Given the description of an element on the screen output the (x, y) to click on. 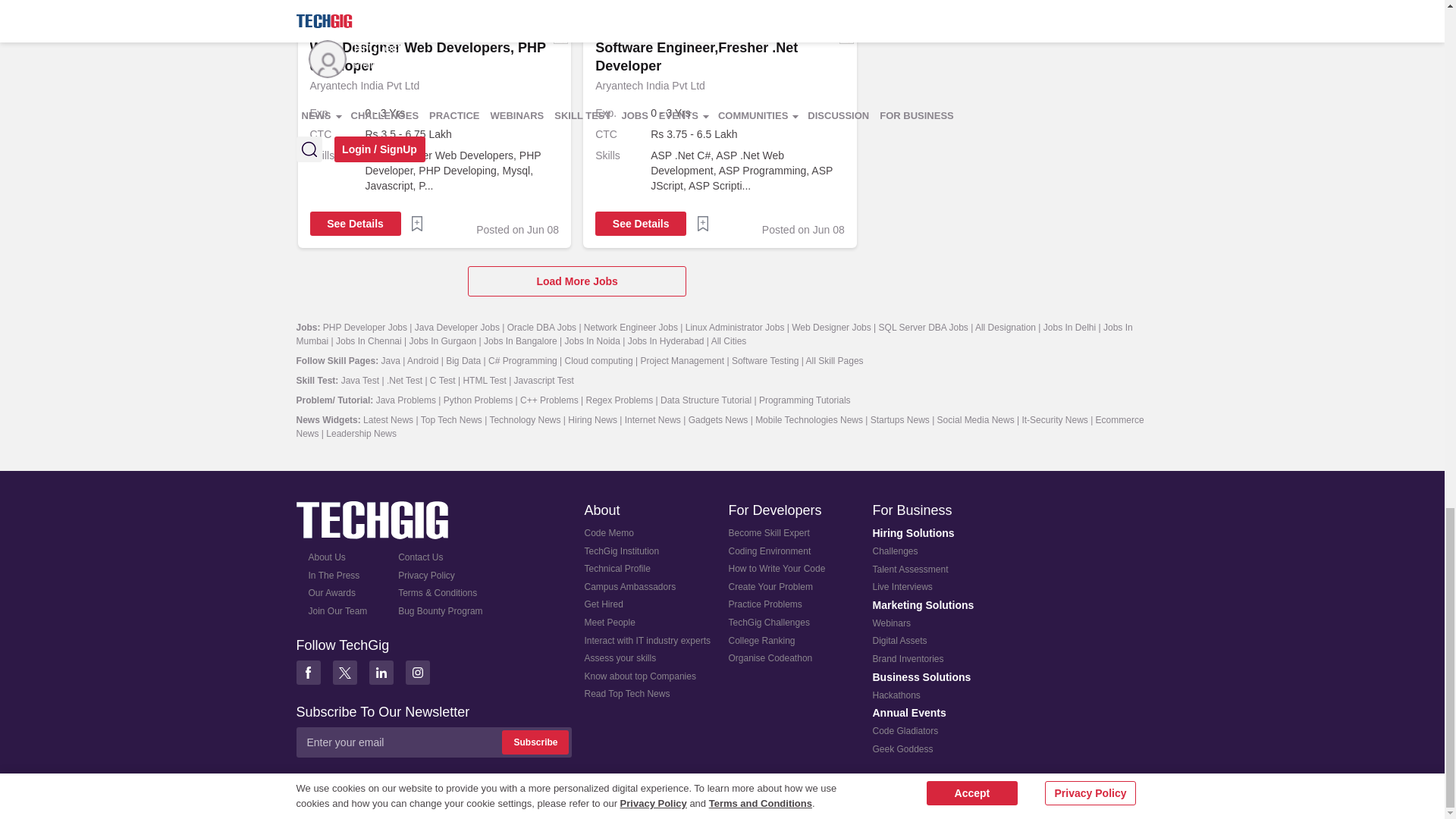
Subscribe (535, 742)
Web Designer Web Developers, PHP developer, PHP Develop... (462, 170)
